Given the description of an element on the screen output the (x, y) to click on. 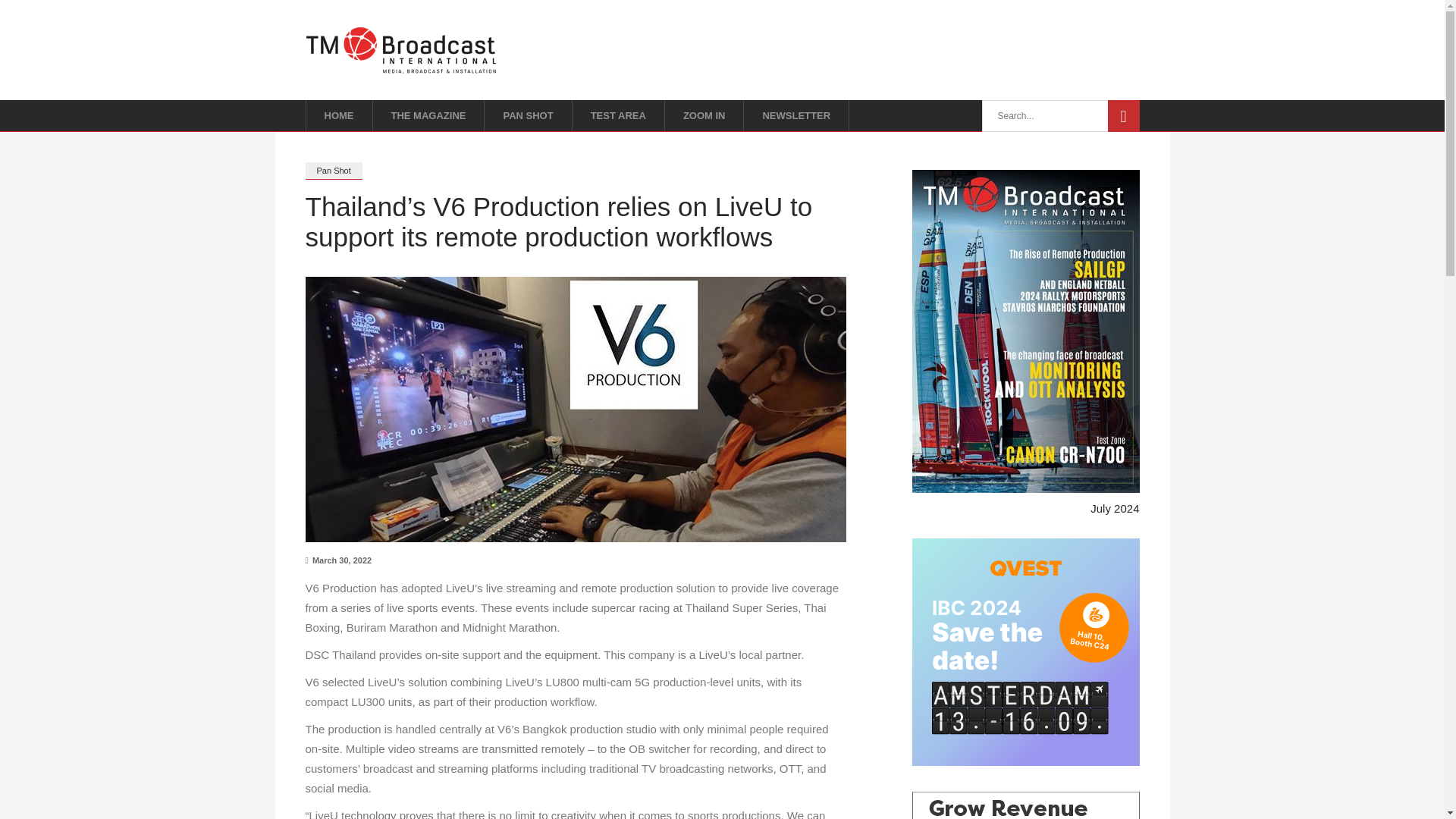
HOME (338, 115)
Search (1122, 115)
TEST AREA (618, 115)
THE MAGAZINE (428, 115)
ZOOM IN (704, 115)
March 30, 2022 (337, 560)
July 2024 (1114, 508)
PAN SHOT (528, 115)
Pan Shot (332, 170)
NEWSLETTER (796, 115)
